Given the description of an element on the screen output the (x, y) to click on. 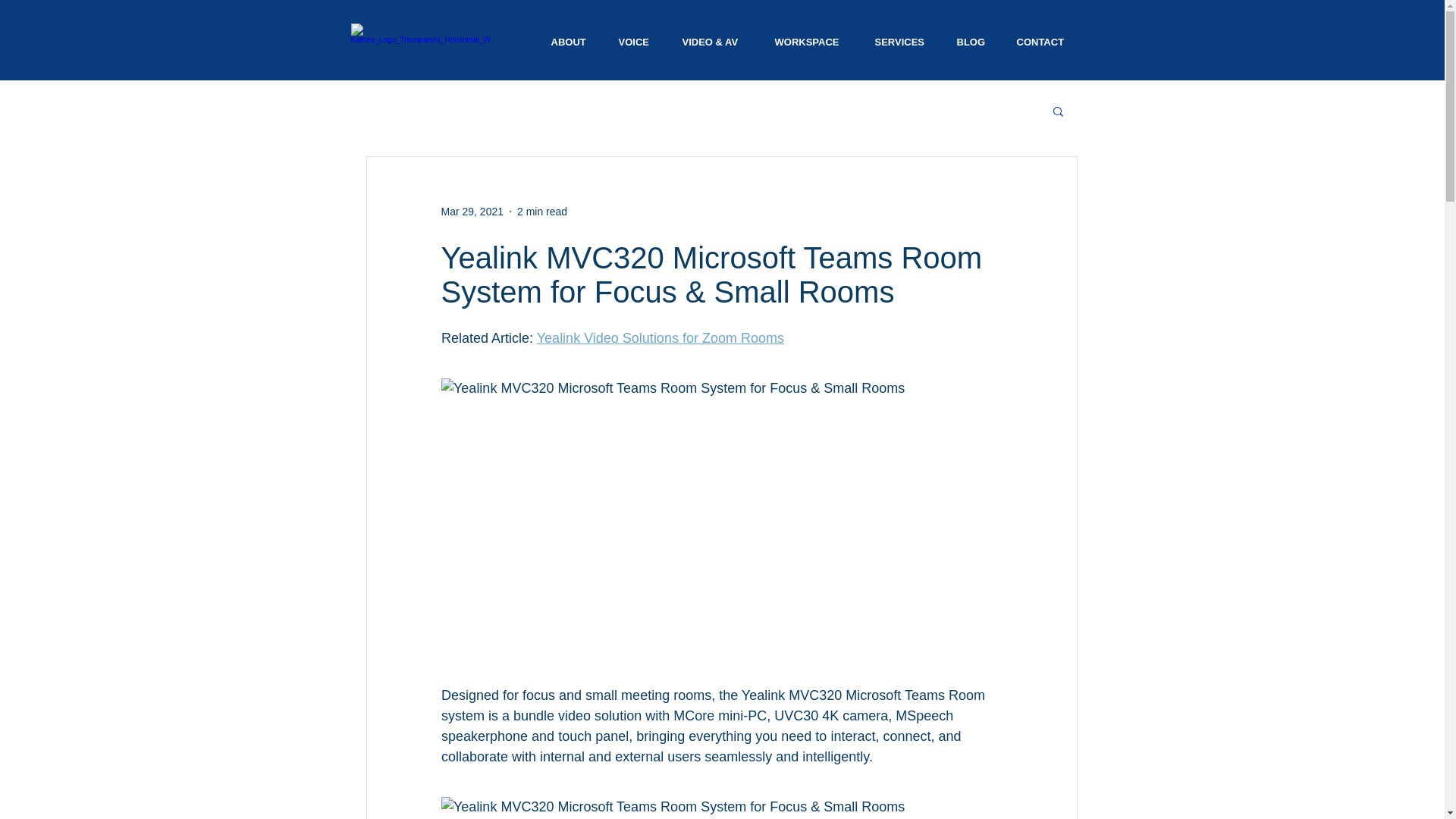
SERVICES (901, 41)
ABOUT (568, 41)
VOICE (635, 41)
BLOG (971, 41)
2 min read (541, 210)
CONTACT (1042, 41)
Yealink Video Solutions for Zoom Rooms (659, 337)
WORKSPACE (810, 41)
Mar 29, 2021 (472, 210)
